Given the description of an element on the screen output the (x, y) to click on. 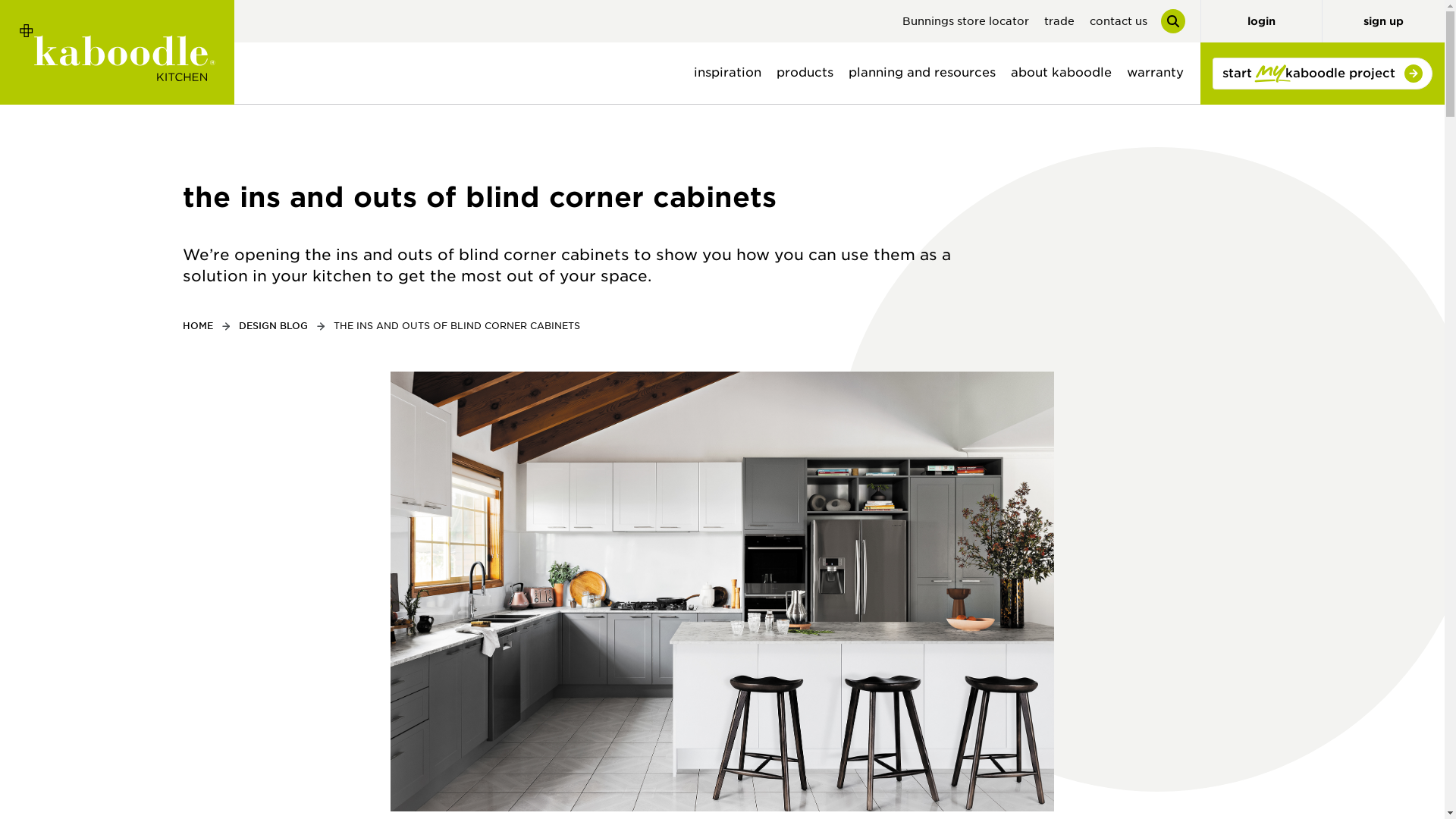
login (1260, 21)
products (804, 72)
inspiration (726, 72)
products (804, 72)
about kaboodle (1061, 72)
warranty (1155, 72)
contact us (1118, 20)
contact us (1118, 20)
Bunnings store locator (965, 20)
inspiration (726, 72)
planning and resources (922, 72)
Bunnings store locator (965, 20)
